Given the description of an element on the screen output the (x, y) to click on. 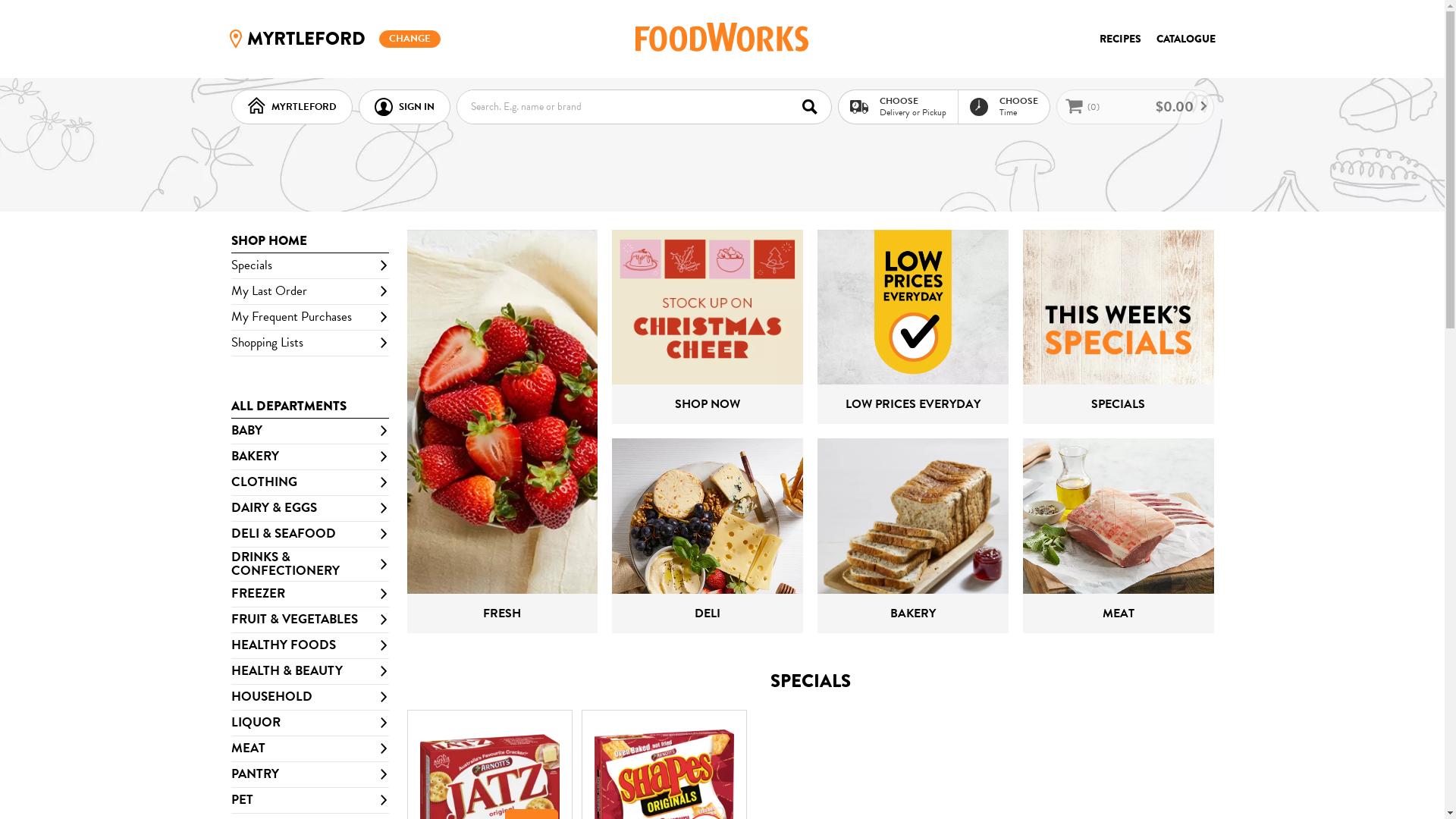
BAKERY Element type: text (912, 535)
RECIPES Element type: text (1120, 38)
FRESH Element type: text (501, 431)
CHOOSE
Delivery or Pickup Element type: text (897, 105)
FRUIT & VEGETABLES Element type: text (309, 619)
SHOP NOW Element type: text (707, 326)
SPECIALS Element type: text (1118, 326)
DELI Element type: text (707, 535)
CATALOGUE Element type: text (1184, 38)
My Last Order Element type: text (309, 291)
PET Element type: text (309, 799)
MEAT Element type: text (1118, 535)
My Frequent Purchases Element type: text (309, 317)
DELI & SEAFOOD Element type: text (309, 534)
DRINKS & CONFECTIONERY Element type: text (309, 564)
BABY Element type: text (309, 431)
CLOTHING Element type: text (309, 482)
Shopping Lists Element type: text (309, 343)
MEAT Element type: text (309, 748)
PANTRY Element type: text (309, 774)
CHANGE Element type: text (409, 38)
MYRTLEFORD Element type: text (290, 106)
Search Element type: hover (814, 105)
HOUSEHOLD Element type: text (309, 696)
CHOOSE
Time Element type: text (1002, 105)
BAKERY Element type: text (309, 457)
DAIRY & EGGS Element type: text (309, 508)
HEALTH & BEAUTY Element type: text (309, 671)
SIGN IN Element type: text (403, 106)
Specials Element type: text (309, 266)
LIQUOR Element type: text (309, 722)
FREEZER Element type: text (309, 593)
(0)
$0.00 Element type: text (1134, 106)
HEALTHY FOODS Element type: text (309, 645)
LOW PRICES EVERYDAY Element type: text (912, 326)
